Given the description of an element on the screen output the (x, y) to click on. 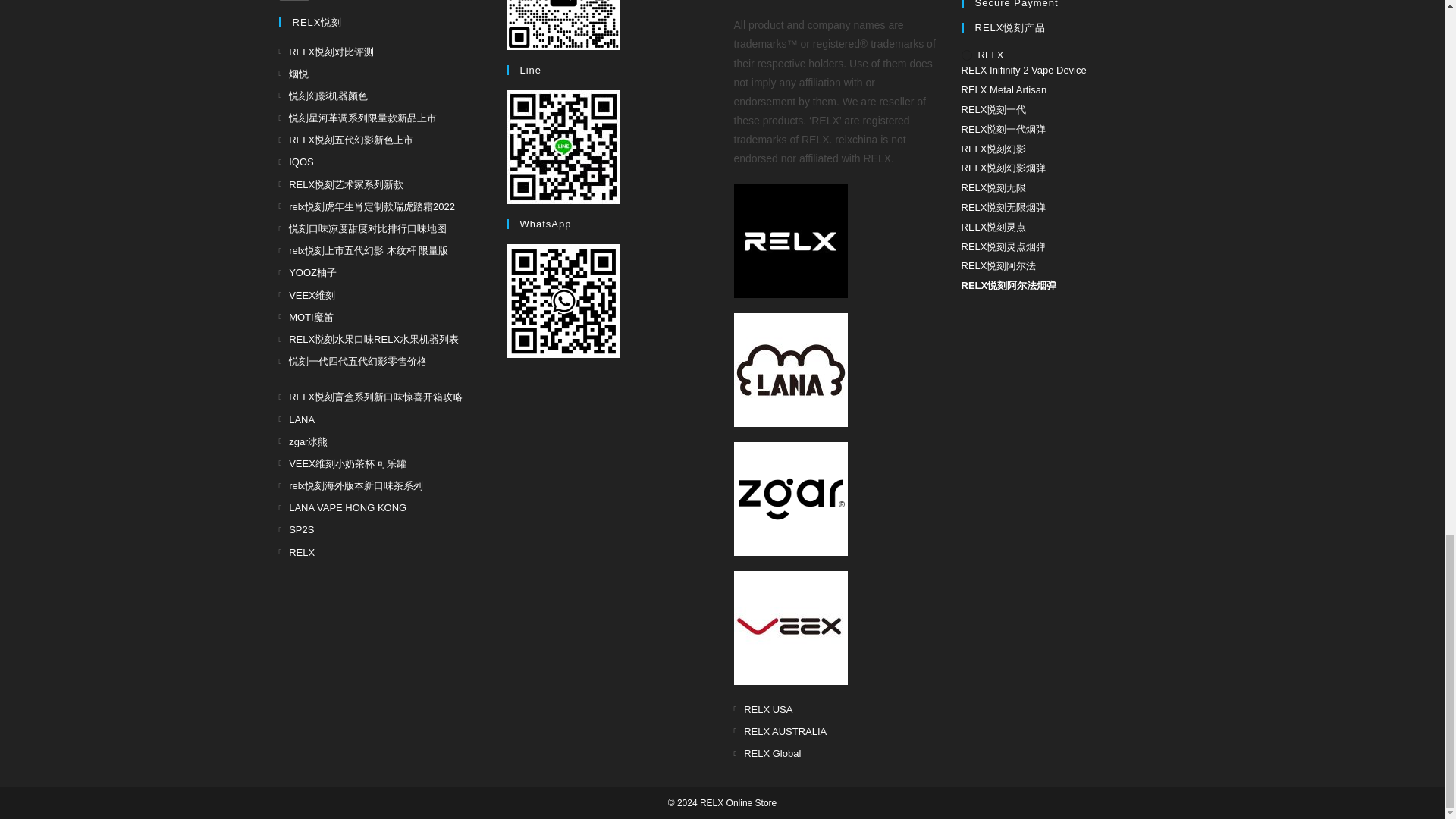
Line (563, 146)
